Given the description of an element on the screen output the (x, y) to click on. 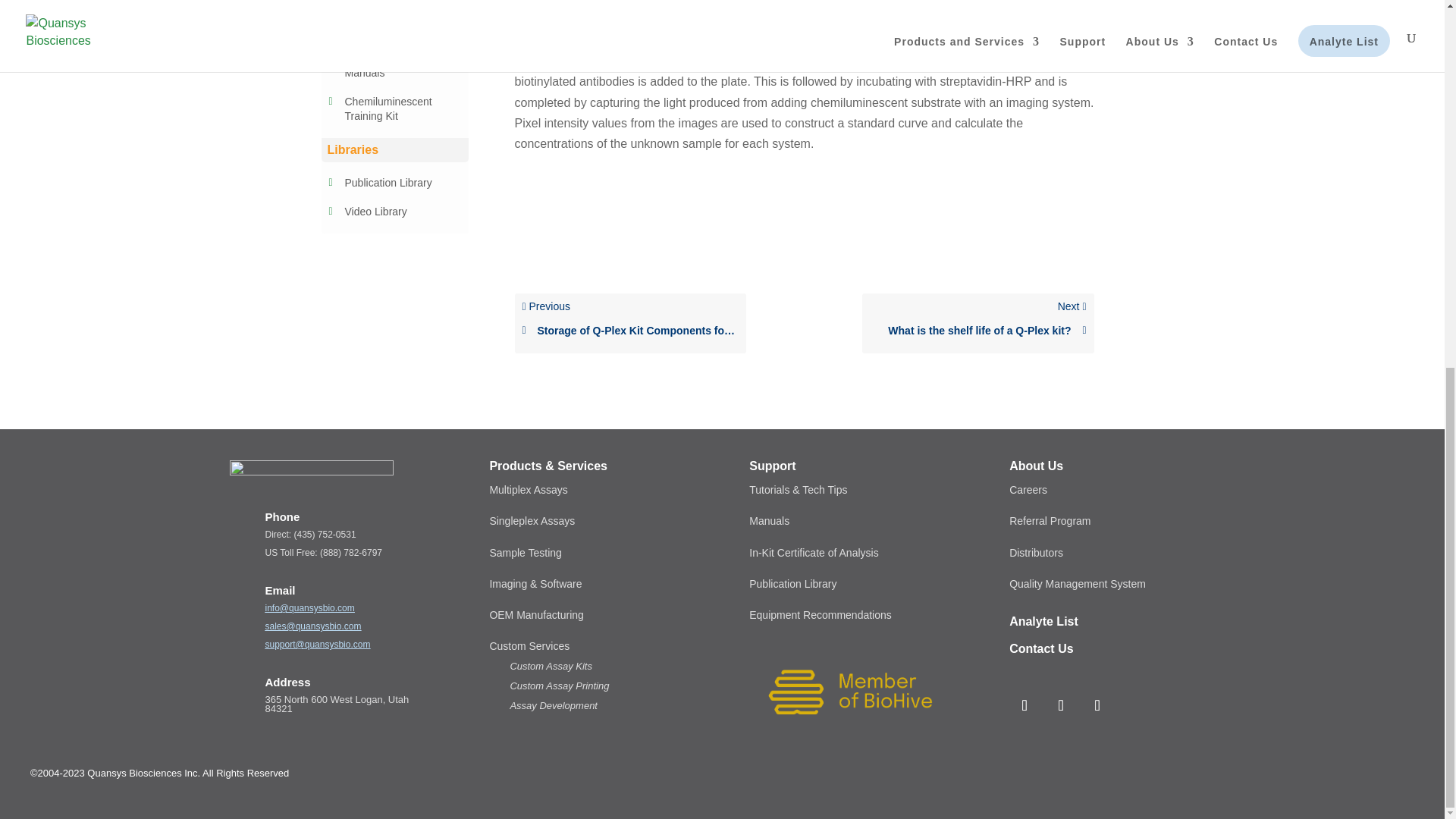
Storage of Q-Plex Kit Components for Long-term Studies (629, 330)
Follow on X (1096, 705)
QlogoWhite (310, 476)
What is the shelf life of a Q-Plex kit? (977, 330)
Follow on Facebook (1060, 705)
Follow on LinkedIn (1024, 705)
